Given the description of an element on the screen output the (x, y) to click on. 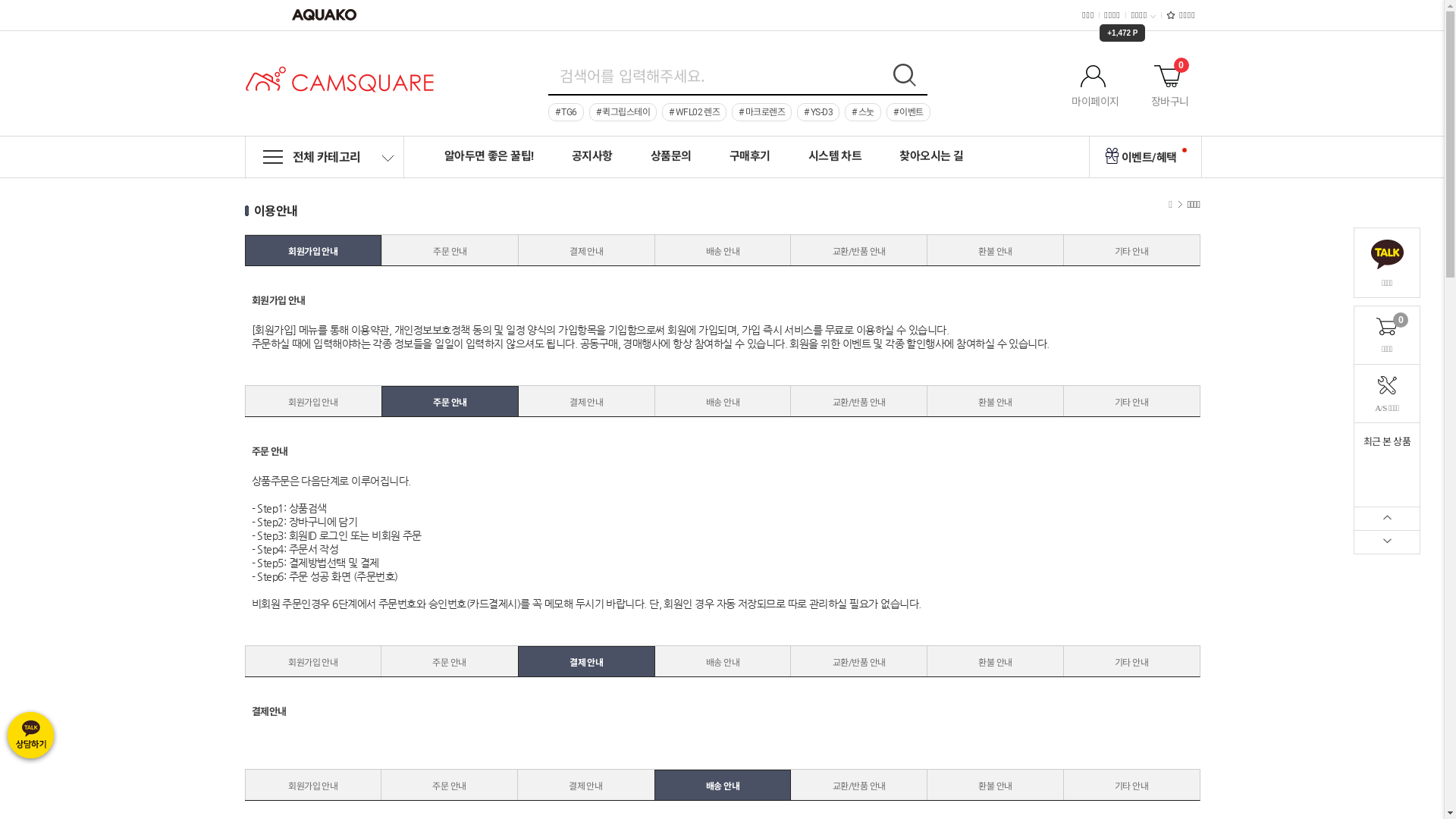
YS-D3 Element type: text (818, 112)
TG6 Element type: text (565, 112)
